Given the description of an element on the screen output the (x, y) to click on. 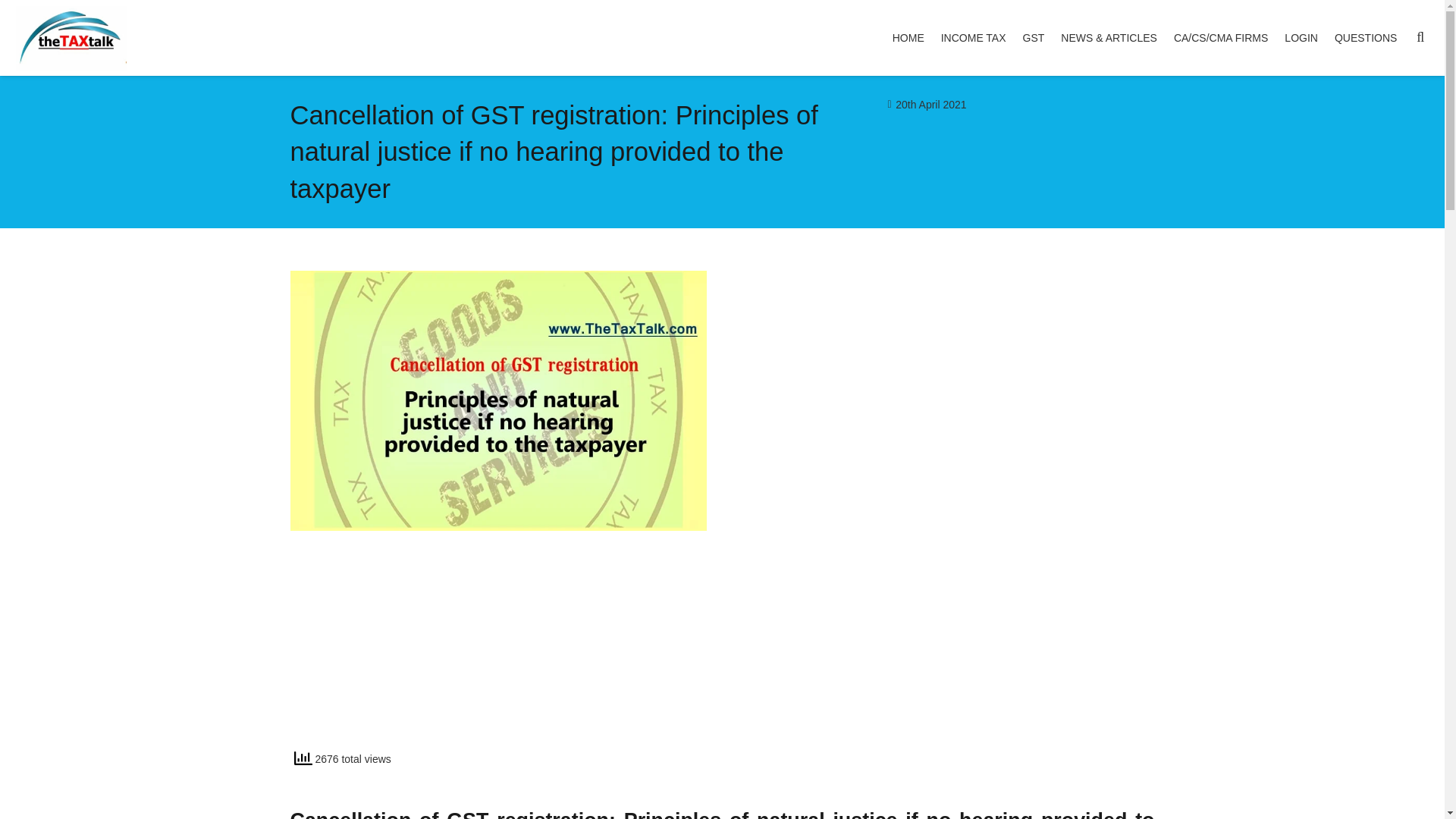
INCOME TAX (973, 38)
Advertisement (946, 635)
